Given the description of an element on the screen output the (x, y) to click on. 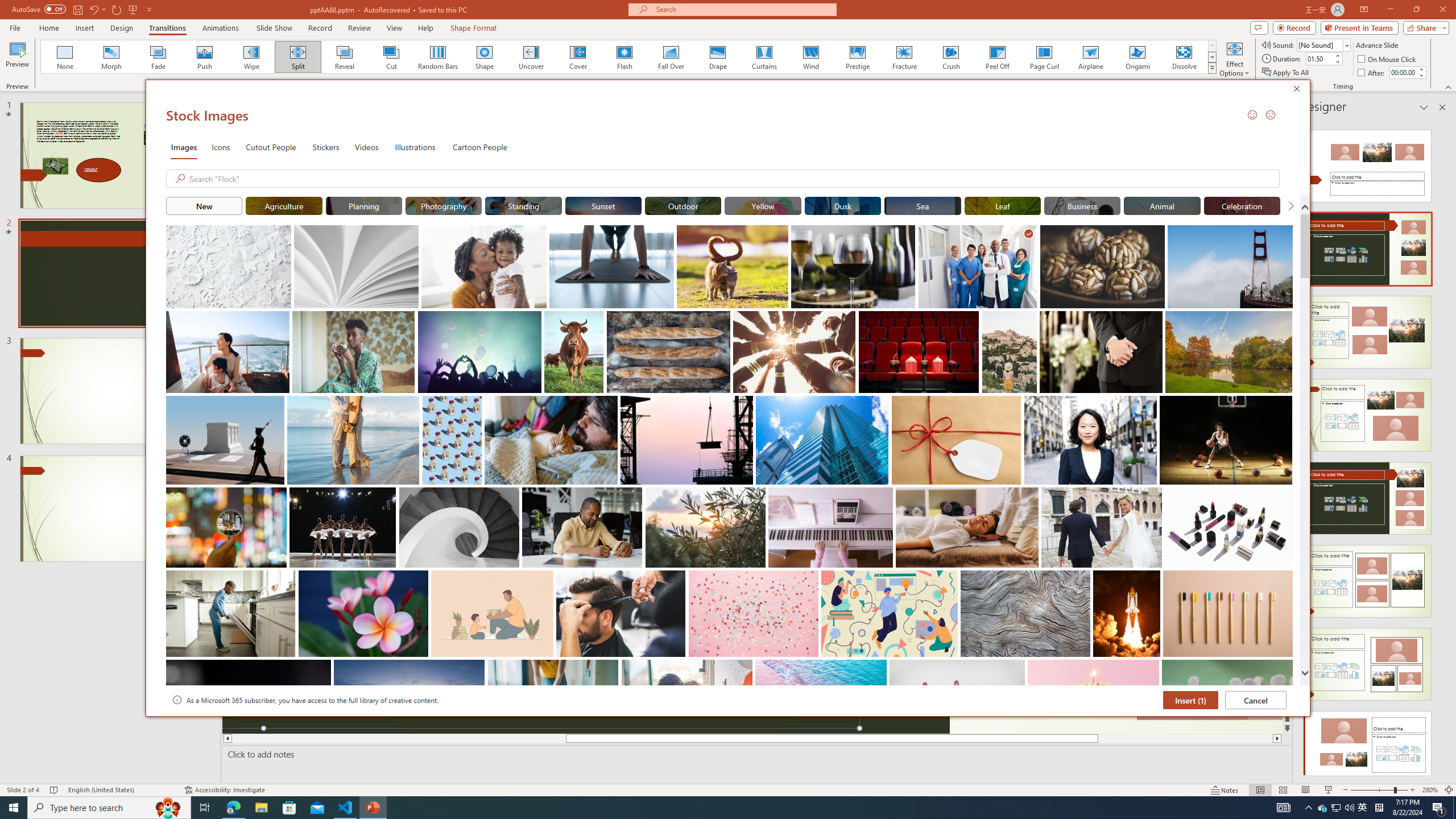
Slide Notes (754, 754)
Notification Chevron (1308, 807)
Open (1345, 44)
User Promoted Notification Area (1336, 807)
Animations (220, 28)
Next Search Suggestion (1290, 205)
Notes  (1225, 790)
View (395, 28)
Fall Over (670, 56)
"Planning" Stock Images. (363, 205)
Split (298, 56)
Start (13, 807)
Close pane (1441, 107)
